Given the description of an element on the screen output the (x, y) to click on. 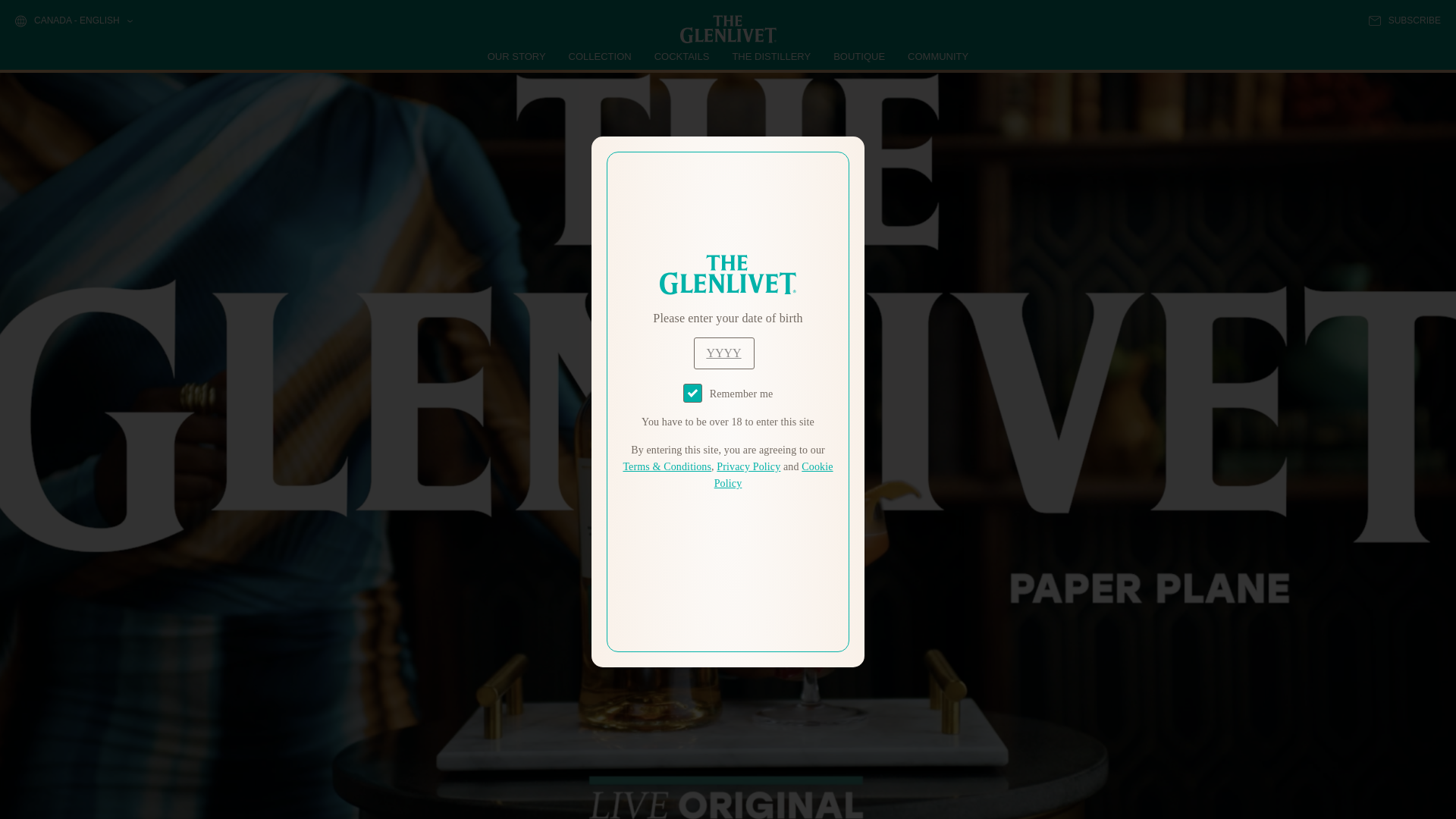
year (723, 353)
Cookie Policy (773, 474)
COLLECTION (600, 56)
THE DISTILLERY (771, 56)
OUR STORY (516, 56)
BOUTIQUE (858, 56)
CANADA - ENGLISH (73, 21)
Privacy Policy (748, 466)
COCKTAILS (681, 56)
SUBSCRIBE (1404, 20)
